Given the description of an element on the screen output the (x, y) to click on. 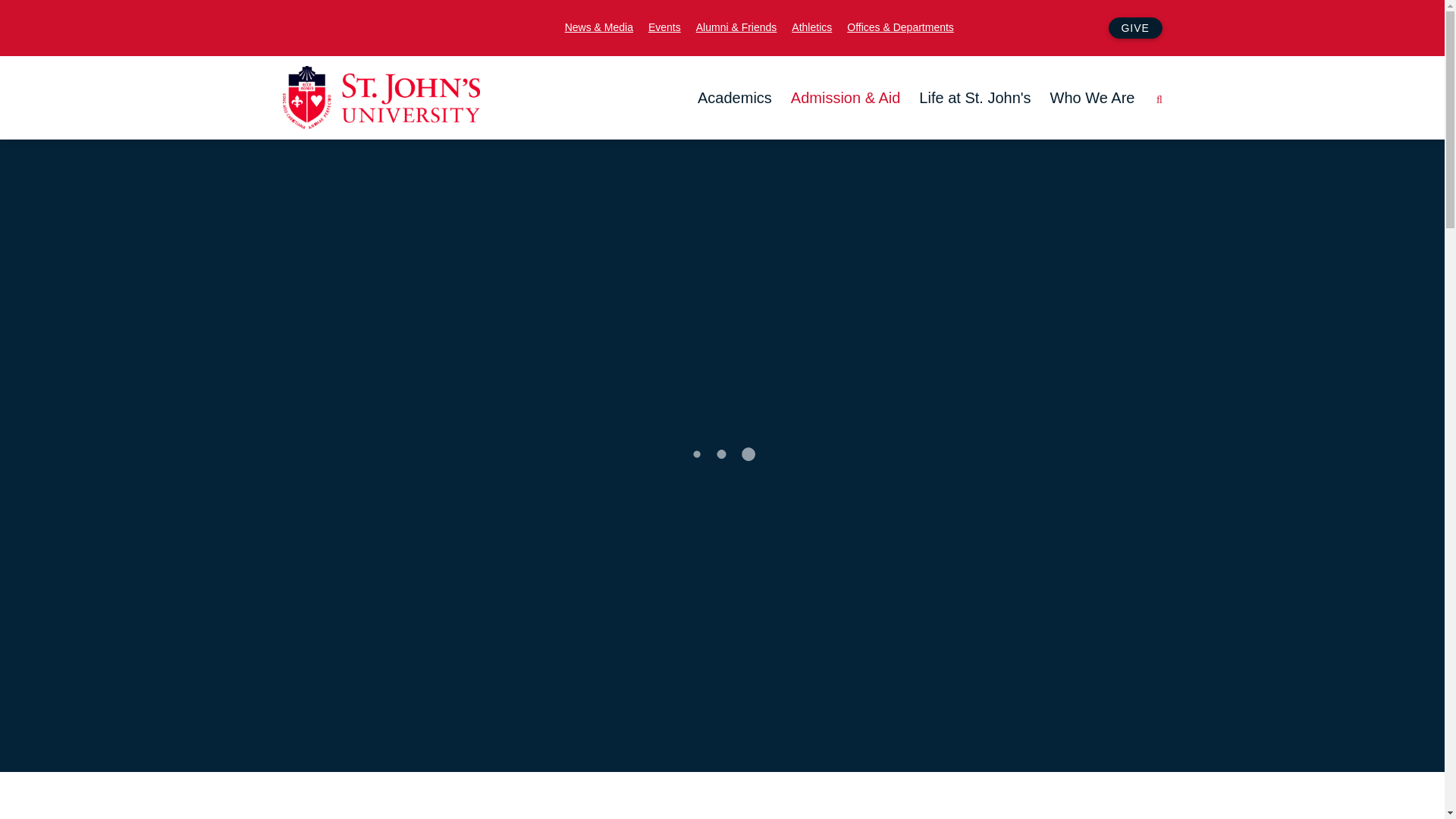
Athletics (811, 26)
Events (664, 26)
Academics (734, 97)
GIVE (1134, 27)
Life at St. John's (974, 97)
